Given the description of an element on the screen output the (x, y) to click on. 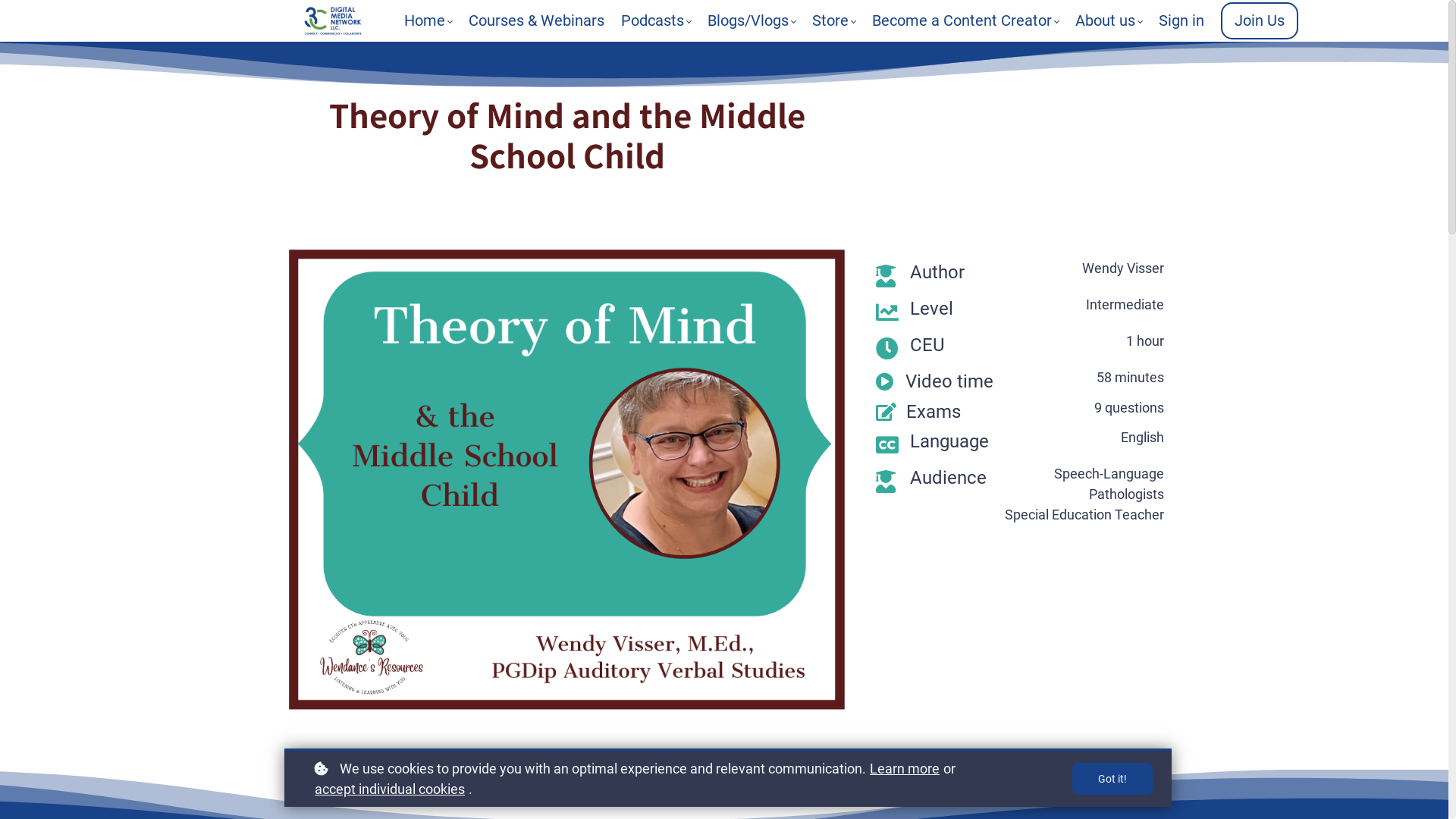
Wendy Visser Element type: hover (1019, 185)
Home Element type: text (427, 20)
Store Element type: text (833, 20)
Blogs/Vlogs Element type: text (751, 20)
Sign in Element type: text (1181, 20)
About us Element type: text (1108, 20)
Become a Content Creator Element type: text (965, 20)
Got it! Element type: text (1112, 778)
Courses & Webinars Element type: text (536, 20)
Join Us Element type: text (1259, 20)
accept individual cookies Element type: text (389, 788)
Podcasts Element type: text (655, 20)
Learn more Element type: text (904, 768)
